Given the description of an element on the screen output the (x, y) to click on. 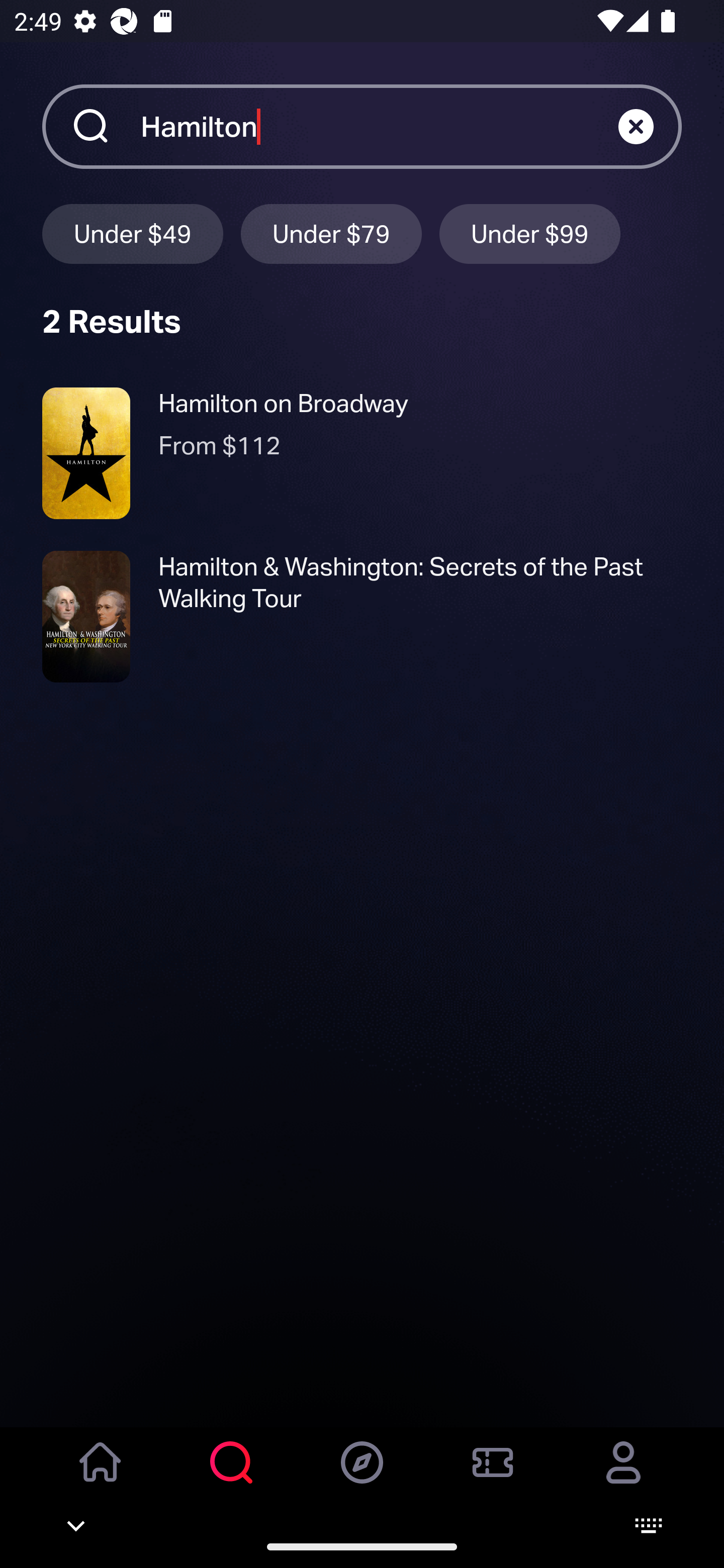
Hamilton (379, 126)
Under $49 (131, 233)
Under $79 (331, 233)
Under $99 (529, 233)
Home (100, 1475)
Discover (361, 1475)
Orders (492, 1475)
Account (623, 1475)
